Given the description of an element on the screen output the (x, y) to click on. 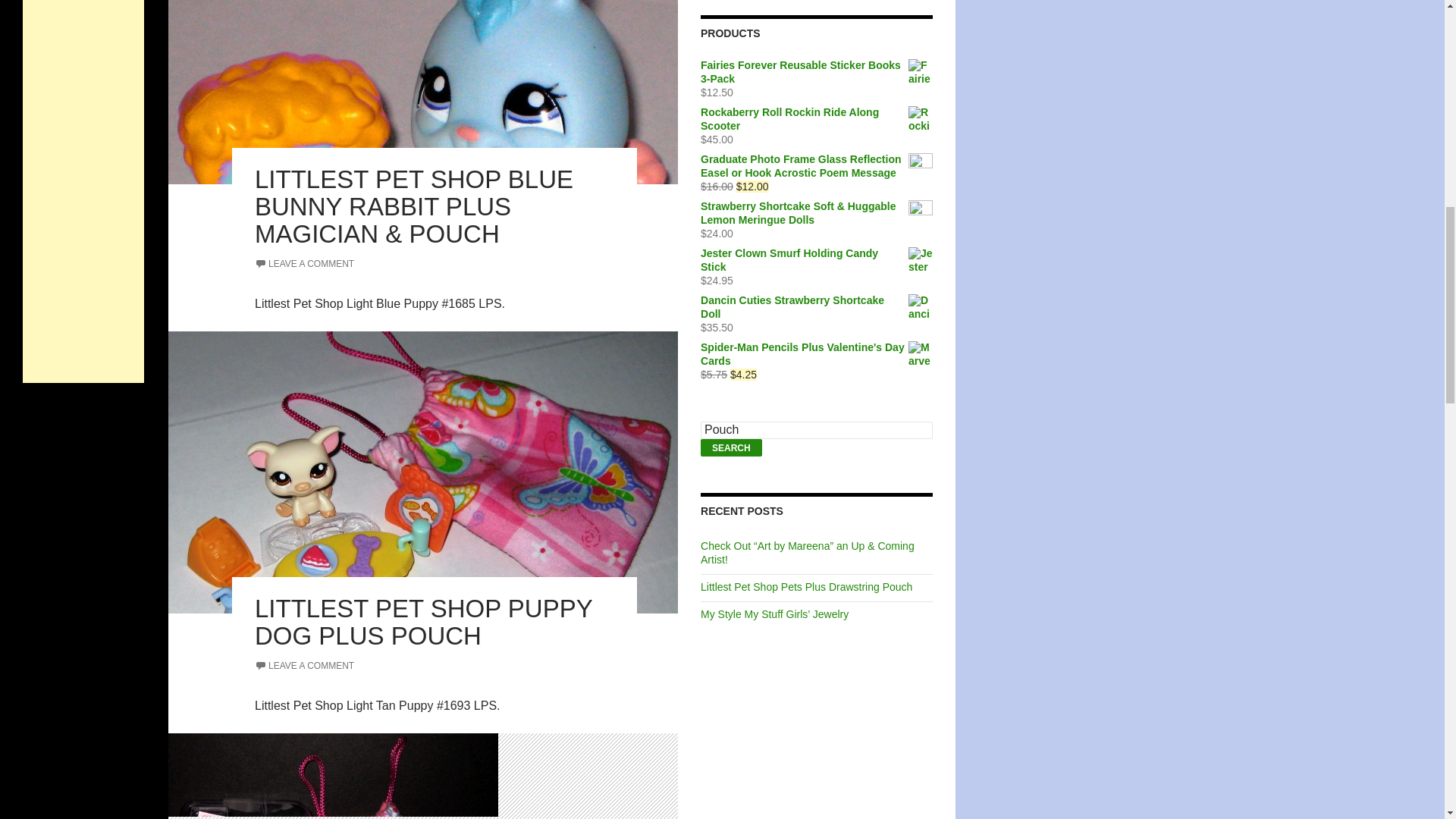
LEAVE A COMMENT (303, 263)
Pouch (816, 429)
LITTLEST PET SHOP PUPPY DOG PLUS POUCH (423, 622)
Pouch (816, 429)
LEAVE A COMMENT (303, 665)
